Given the description of an element on the screen output the (x, y) to click on. 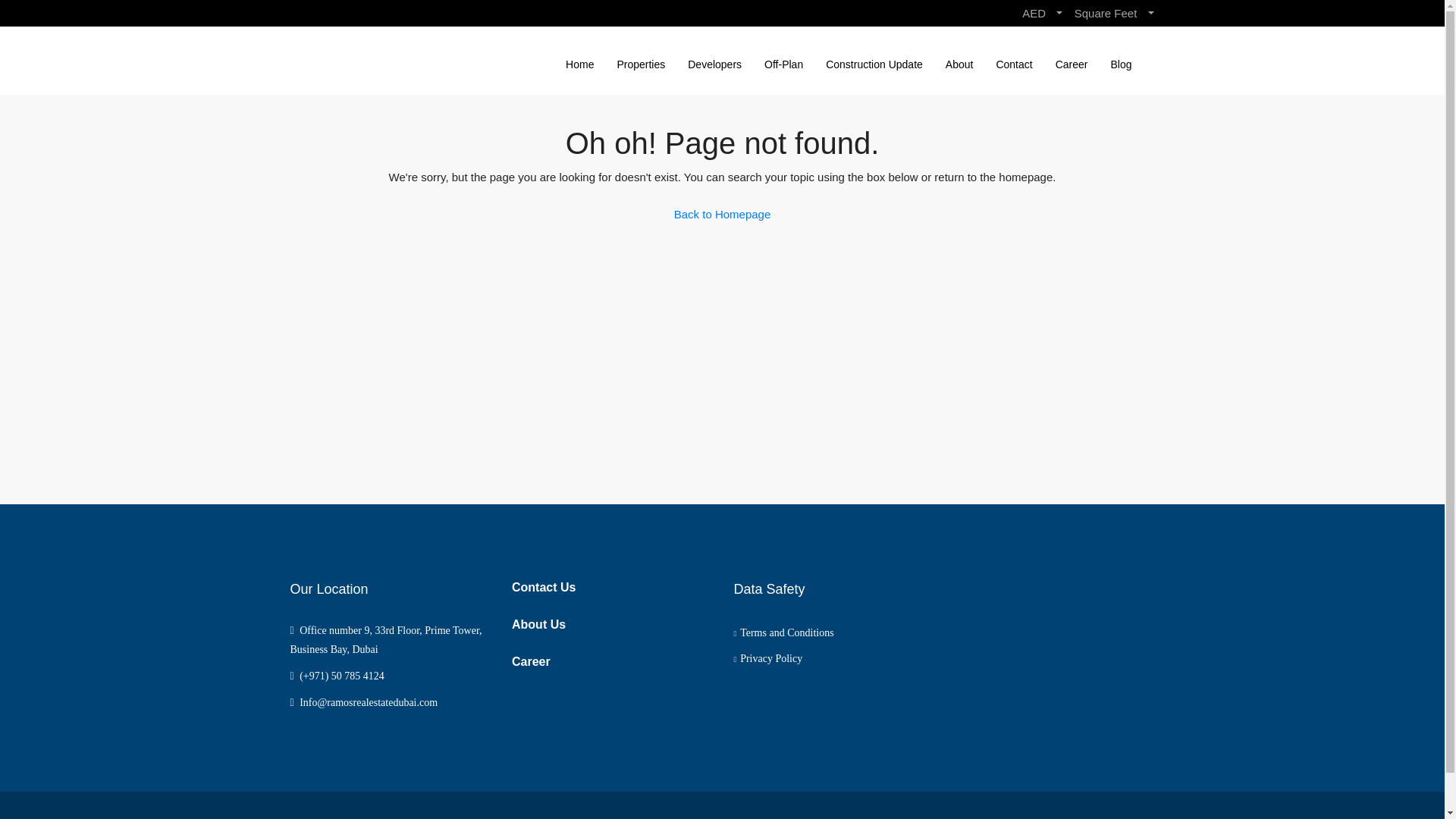
Properties (737, 818)
Off-Plan (782, 64)
About Us (539, 624)
Developers (714, 64)
Career (531, 661)
Privacy Policy (768, 658)
Properties (641, 64)
Square Feet (1114, 13)
